Given the description of an element on the screen output the (x, y) to click on. 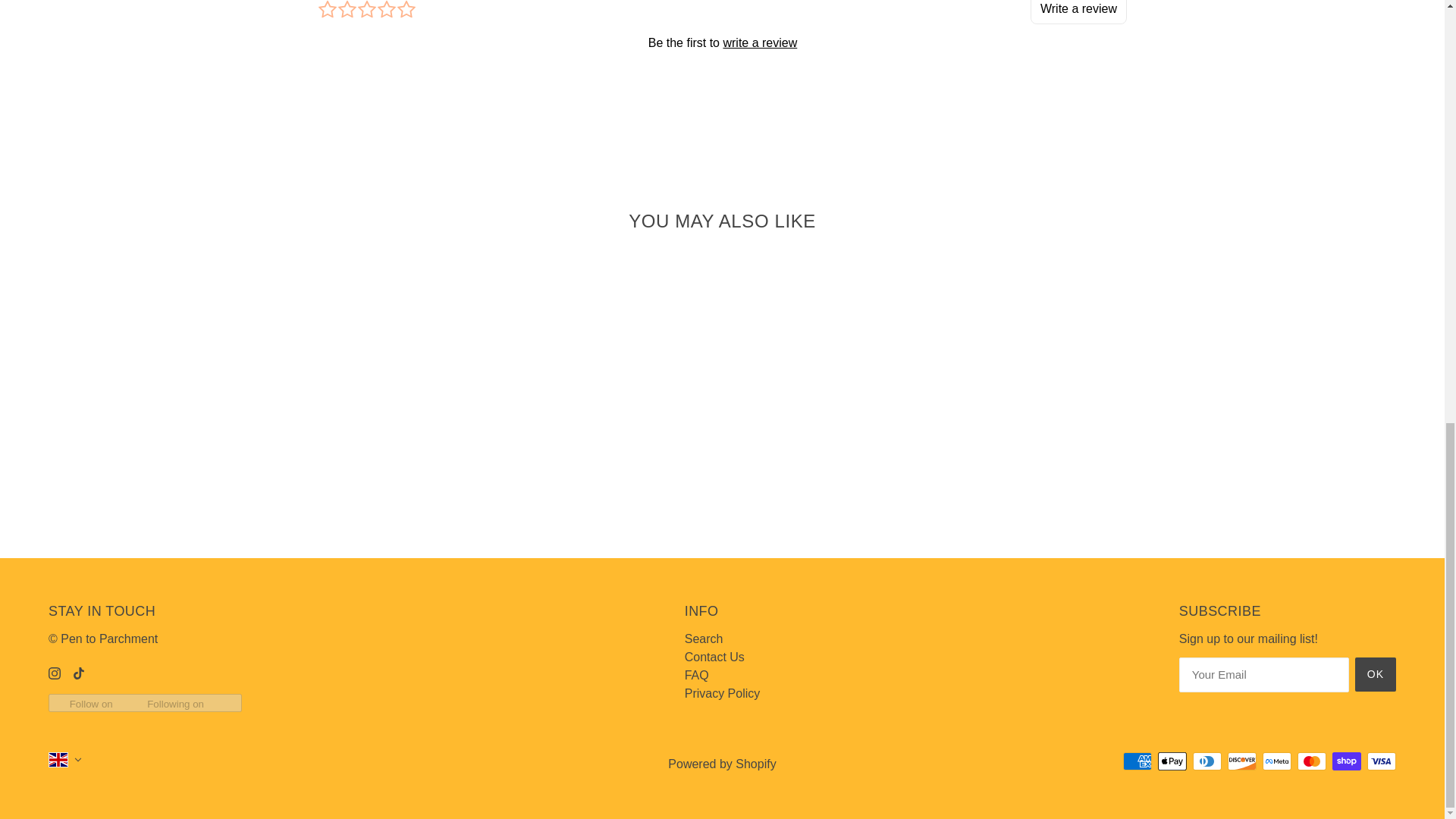
Contact Us (714, 656)
Search (703, 638)
Privacy Policy (722, 693)
Contact Us (714, 656)
FAQ (696, 675)
FAQ (696, 675)
Product reviews widget (722, 52)
OK (1375, 674)
Privacy Policy (722, 693)
